Given the description of an element on the screen output the (x, y) to click on. 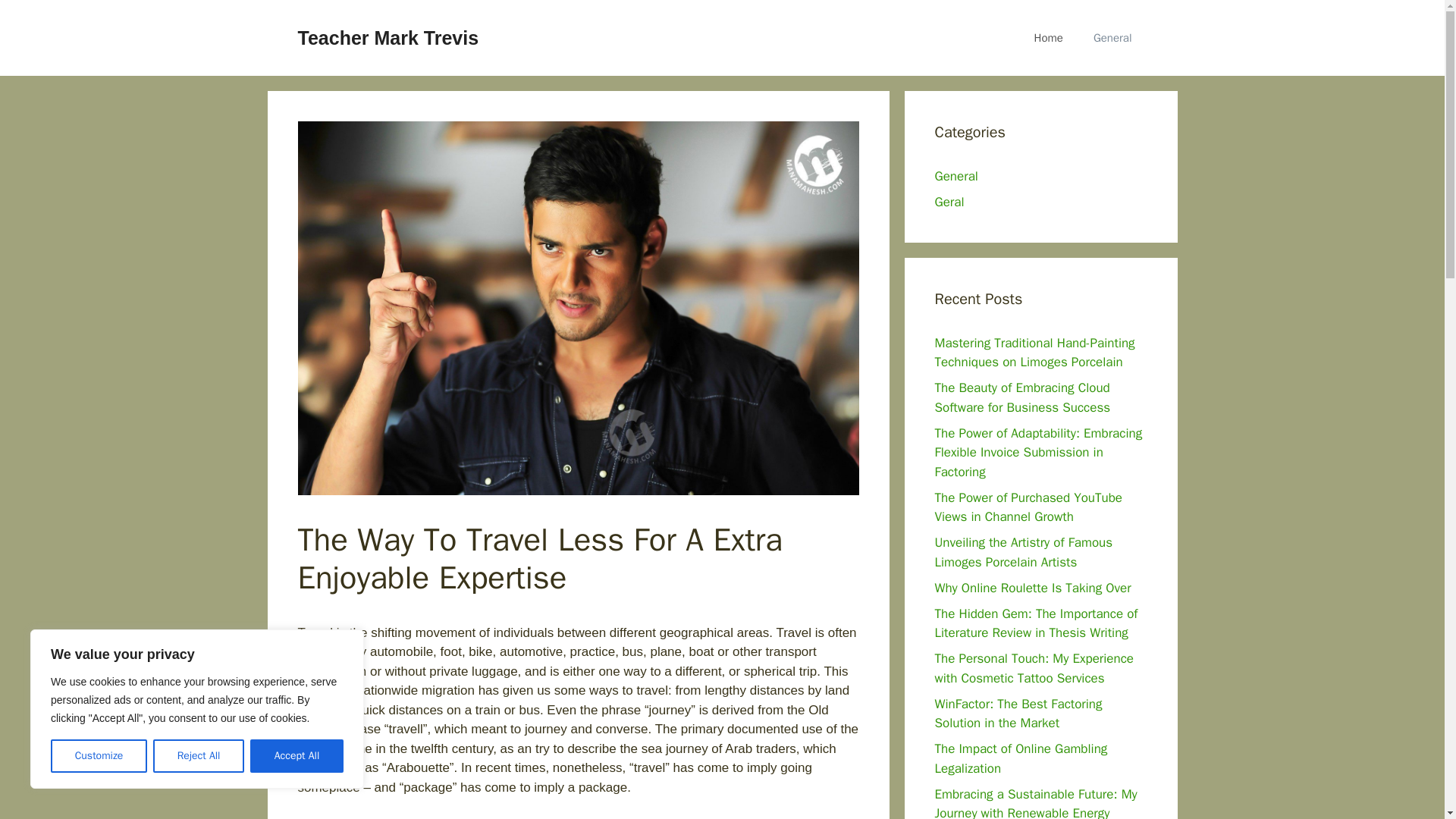
General (1112, 37)
The Beauty of Embracing Cloud Software for Business Success (1021, 397)
Teacher Mark Trevis (388, 37)
Geral (948, 201)
General (955, 176)
The Power of Purchased YouTube Views in Channel Growth (1028, 507)
Customize (98, 756)
Unveiling the Artistry of Famous Limoges Porcelain Artists (1023, 552)
Why Online Roulette Is Taking Over (1032, 587)
Home (1048, 37)
Reject All (198, 756)
Accept All (296, 756)
